Given the description of an element on the screen output the (x, y) to click on. 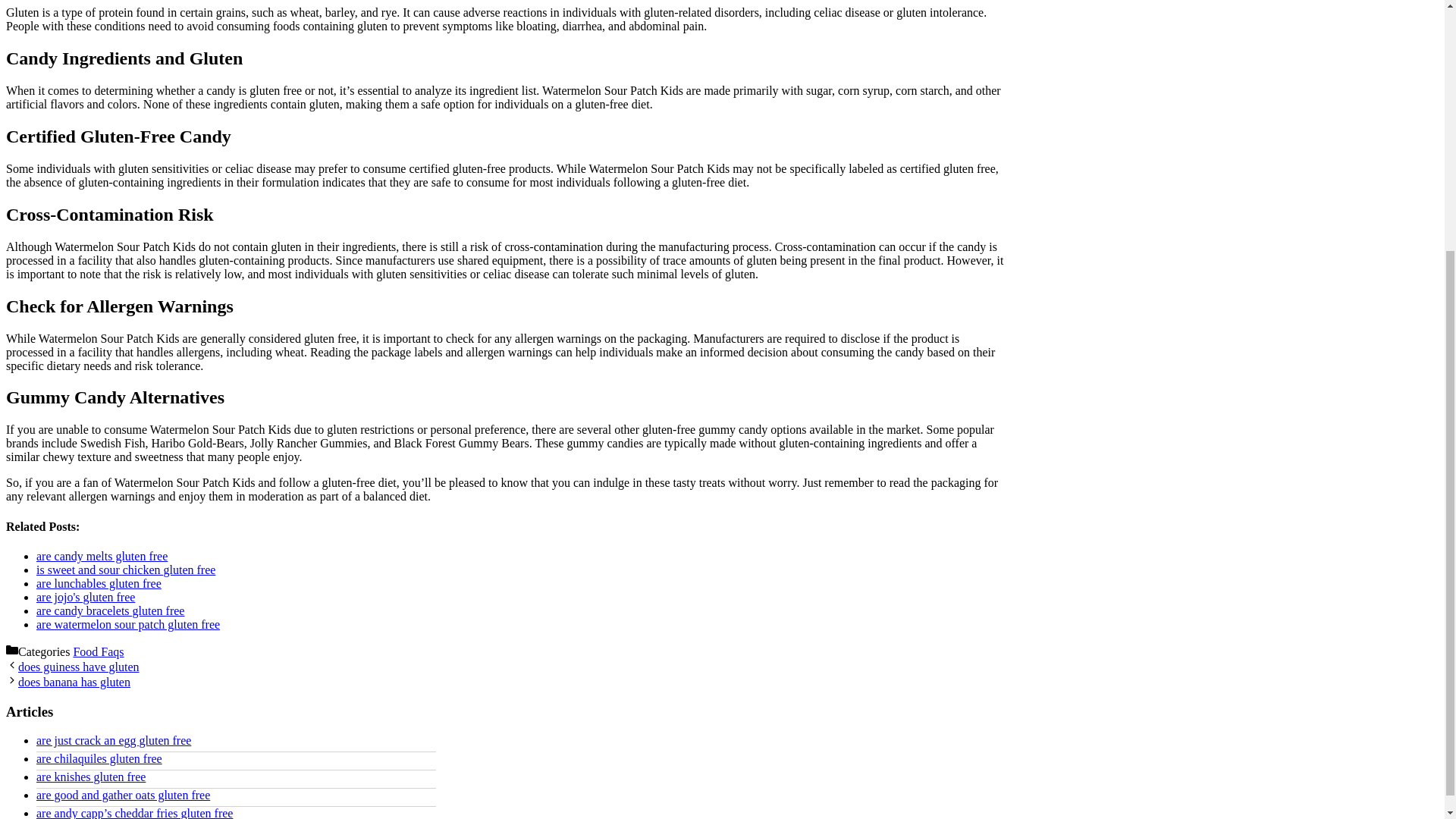
are good and gather oats gluten free (122, 794)
are candy melts gluten free (101, 555)
Food Faqs (97, 651)
are knishes gluten free (90, 776)
does banana has gluten (74, 681)
are candy bracelets gluten free (110, 610)
are watermelon sour patch gluten free (127, 624)
are just crack an egg gluten free (113, 739)
is sweet and sour chicken gluten free (125, 569)
does guiness have gluten (78, 666)
